Given the description of an element on the screen output the (x, y) to click on. 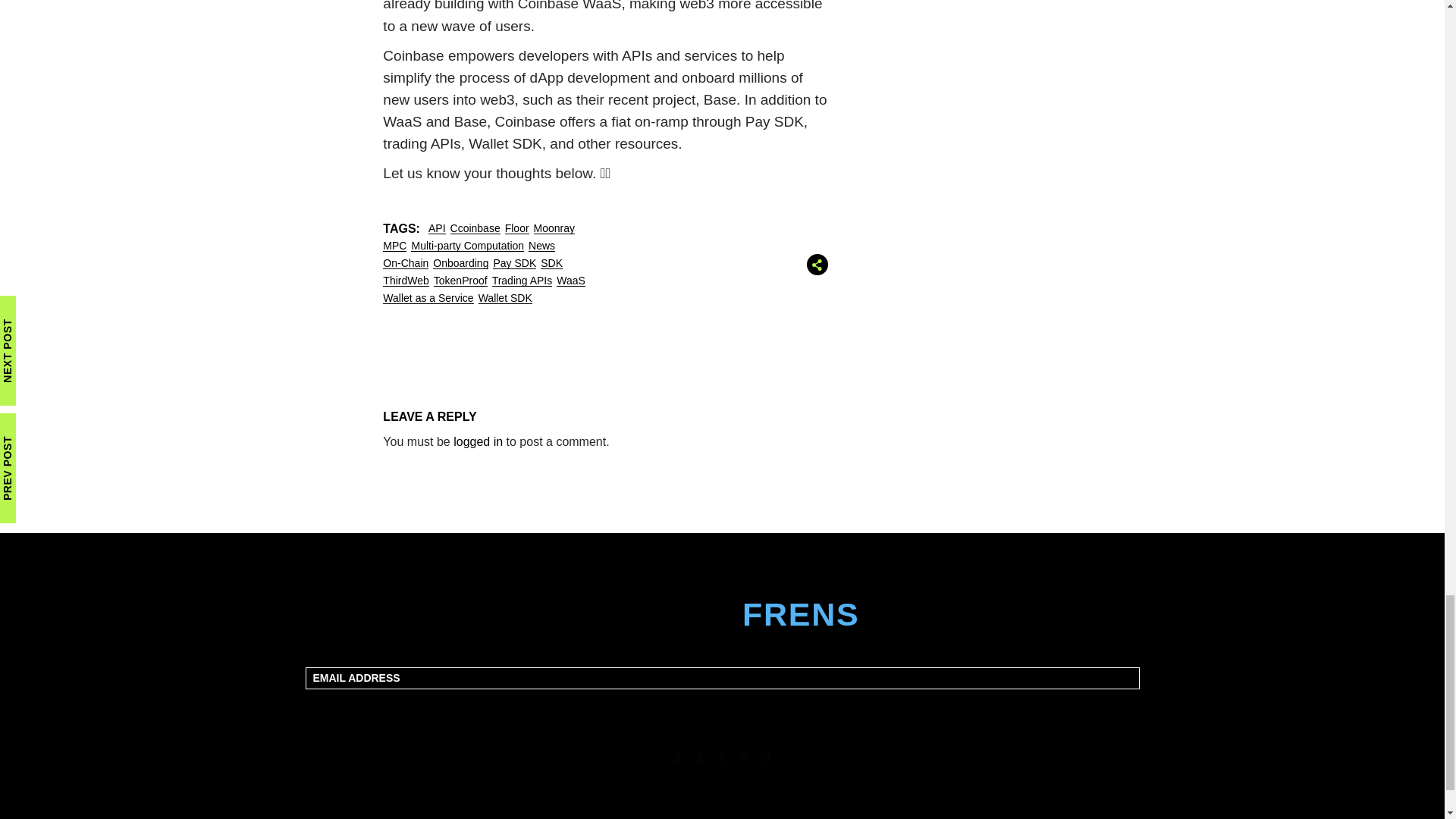
MPC (394, 245)
Floor (517, 228)
News (541, 245)
Multi-party Computation (467, 245)
SUBSCRIBE (722, 707)
Moonray (554, 228)
On-Chain (405, 263)
Onboarding (459, 263)
Ccoinbase (474, 228)
API (436, 228)
